Given the description of an element on the screen output the (x, y) to click on. 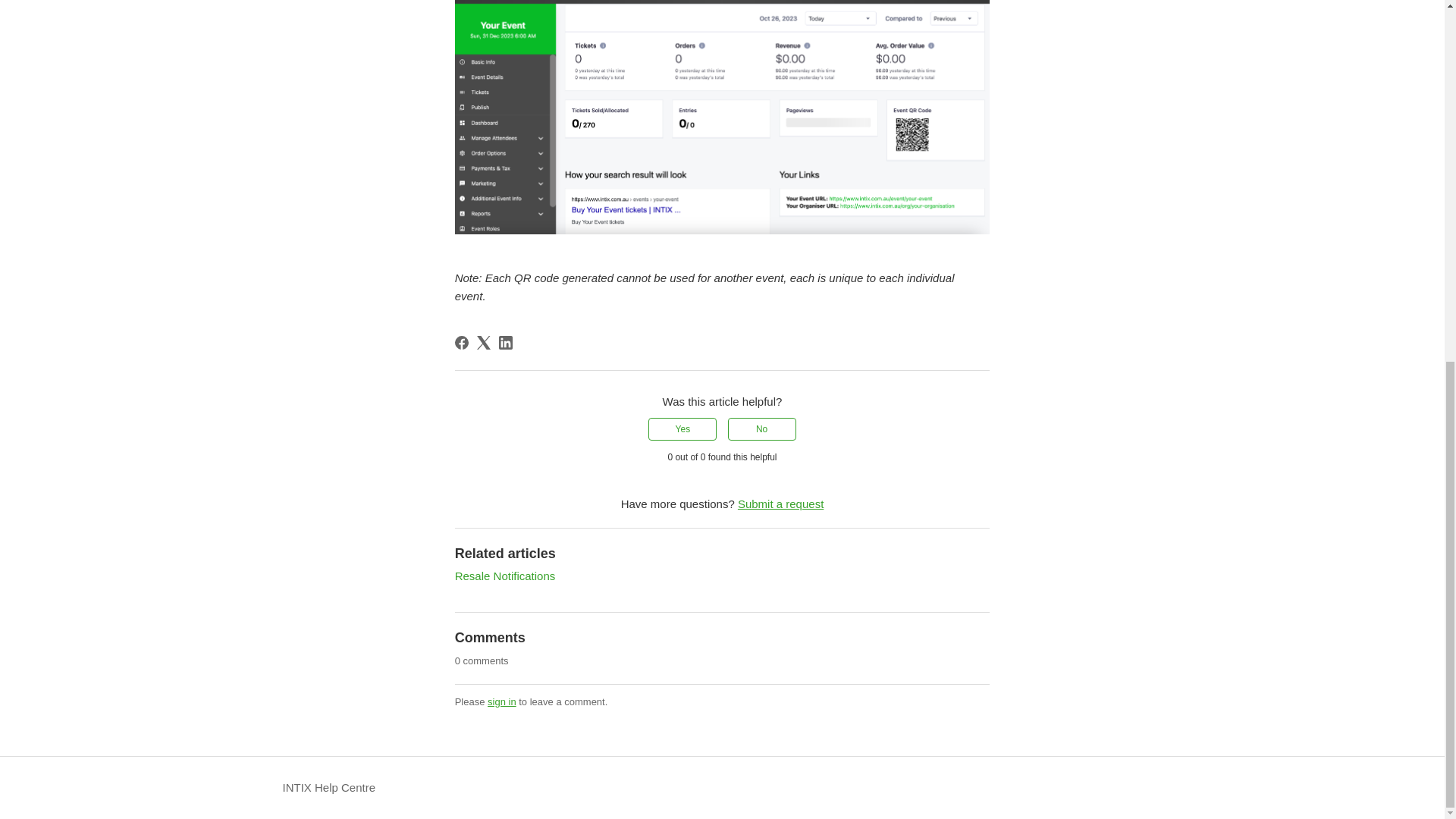
See more (306, 0)
sign in (501, 701)
Resale Notifications (505, 575)
Opens a widget where you can find more information (1376, 147)
Yes (681, 428)
Submit a request (781, 503)
INTIX Help Centre (328, 787)
Home (328, 787)
No (762, 428)
